Given the description of an element on the screen output the (x, y) to click on. 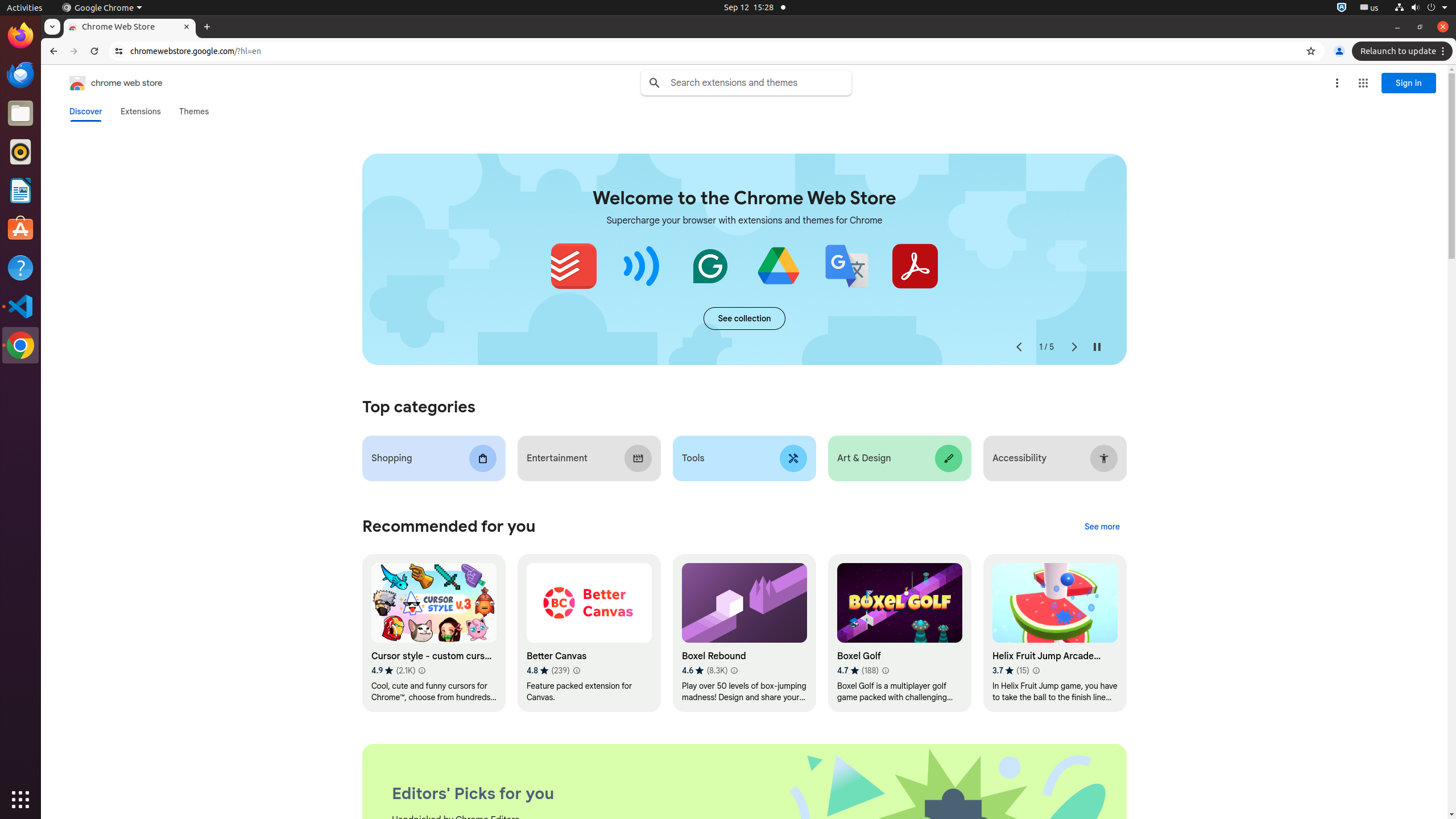
Forward Element type: push-button (73, 50)
Bookmark this tab Element type: push-button (1310, 51)
Back Element type: push-button (51, 50)
View site information Element type: push-button (118, 51)
Accessibility Element type: link (1054, 458)
